Given the description of an element on the screen output the (x, y) to click on. 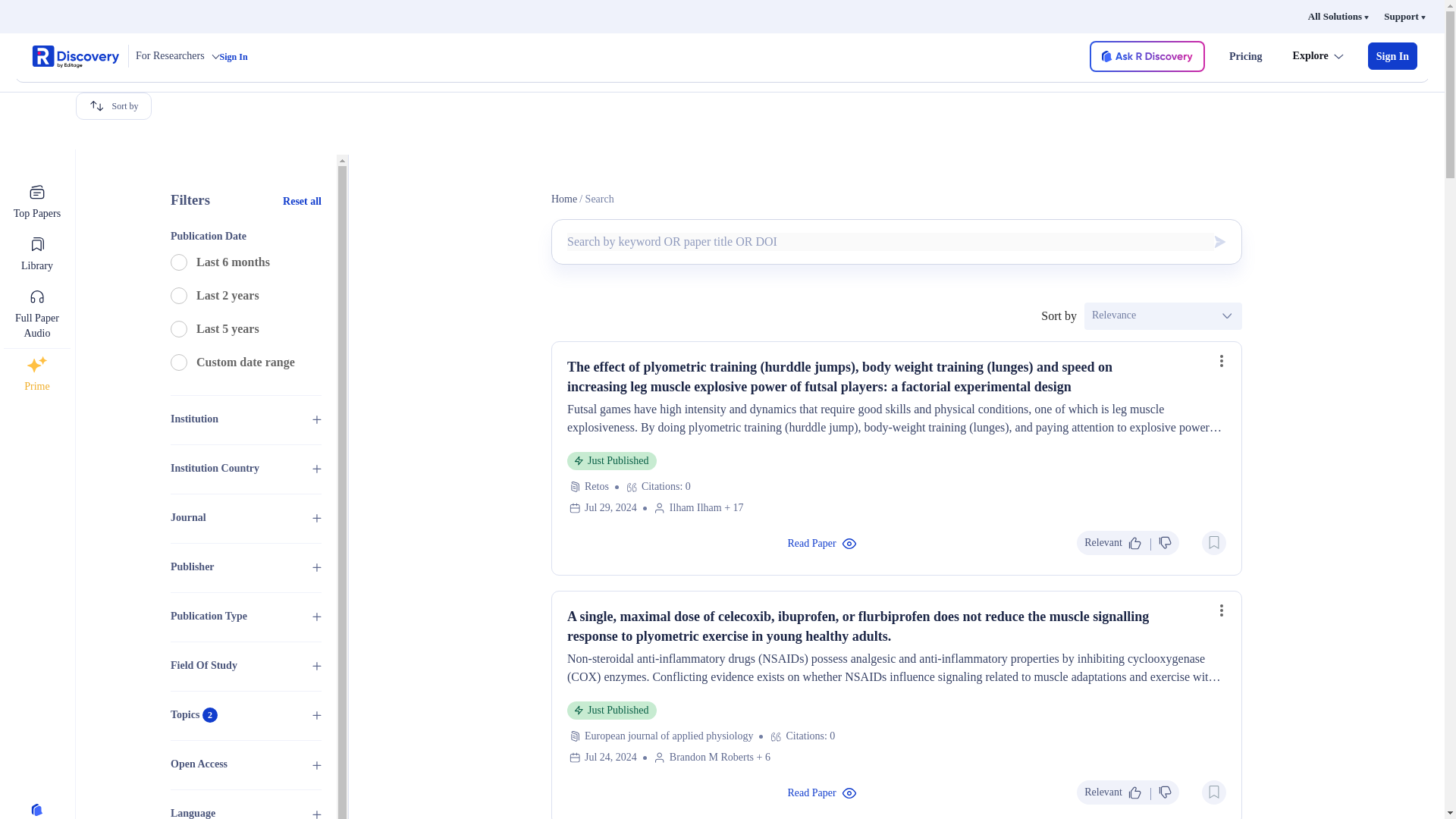
Full Paper Audio (36, 314)
Sign In (233, 56)
Support (1404, 16)
Sign In (1392, 55)
Pricing (1245, 56)
Library (36, 253)
Read Paper (822, 542)
Reset all (296, 200)
All Solutions (1337, 16)
Top Papers (36, 202)
